Given the description of an element on the screen output the (x, y) to click on. 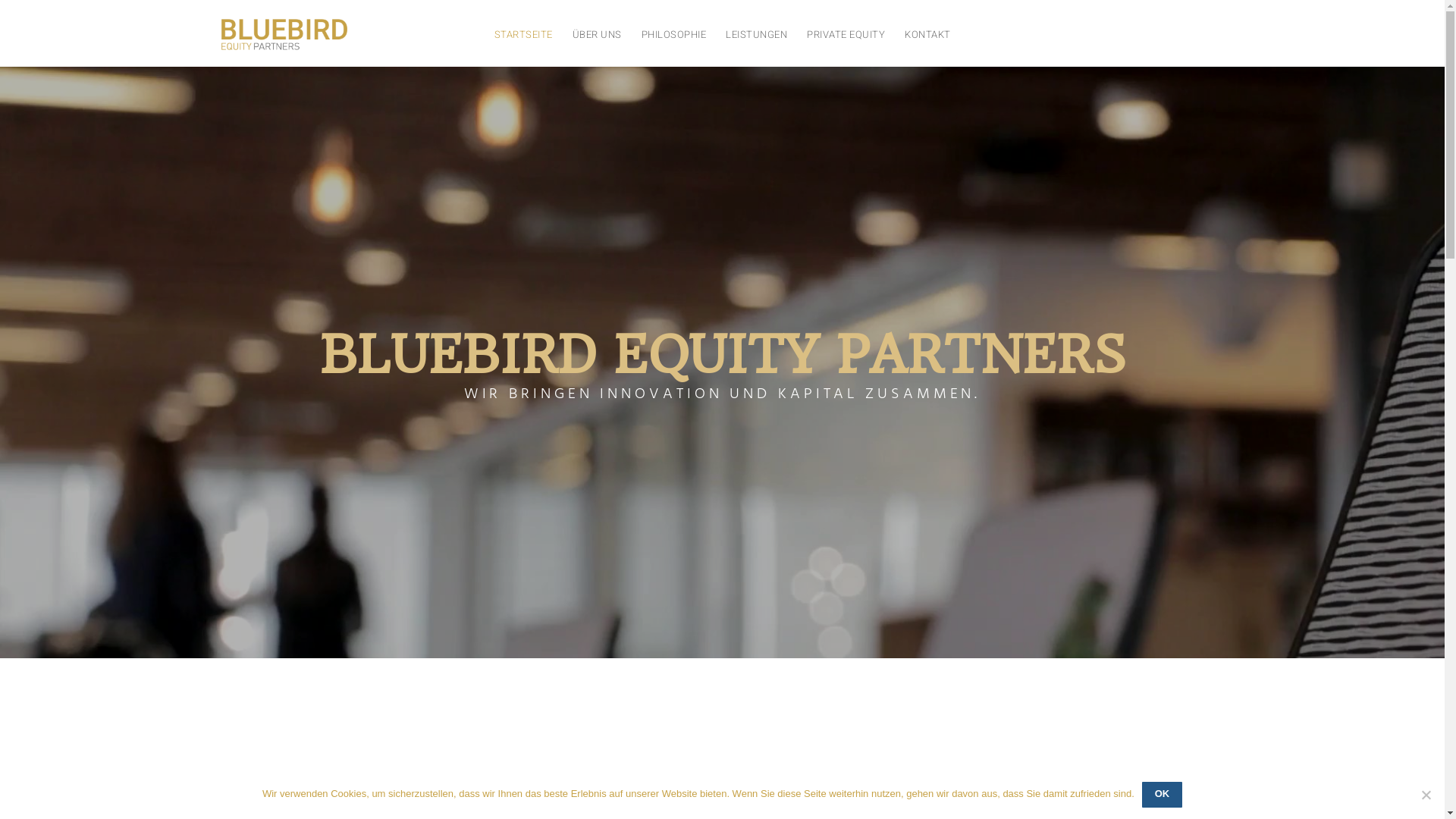
KONTAKT Element type: text (927, 34)
OK Element type: text (1162, 794)
LEISTUNGEN Element type: text (756, 34)
PHILOSOPHIE Element type: text (672, 34)
STARTSEITE Element type: text (522, 34)
PRIVATE EQUITY Element type: text (845, 34)
No Element type: hover (1425, 794)
